Given the description of an element on the screen output the (x, y) to click on. 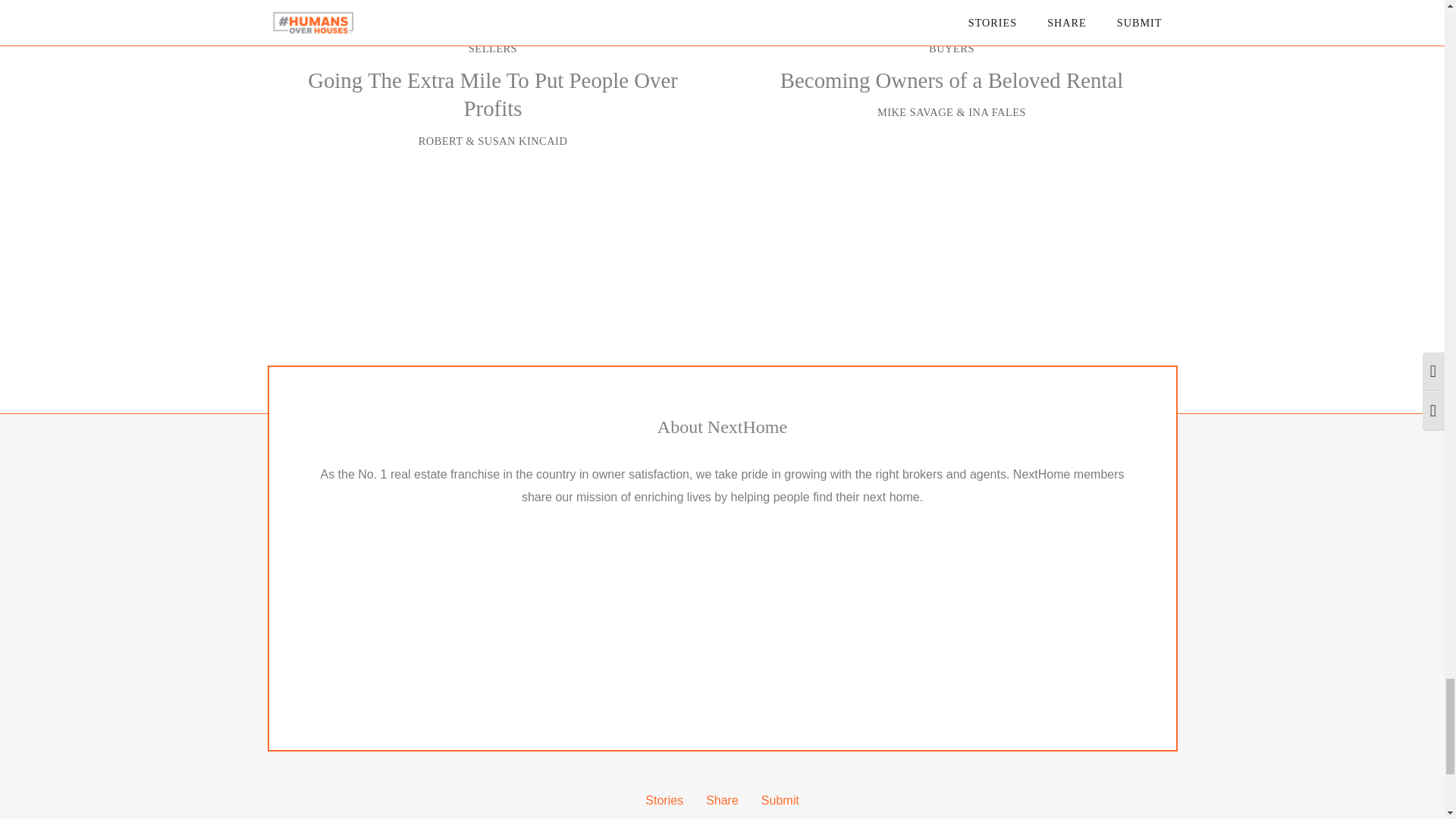
Submit (779, 800)
Stories (663, 800)
Share (721, 800)
